Given the description of an element on the screen output the (x, y) to click on. 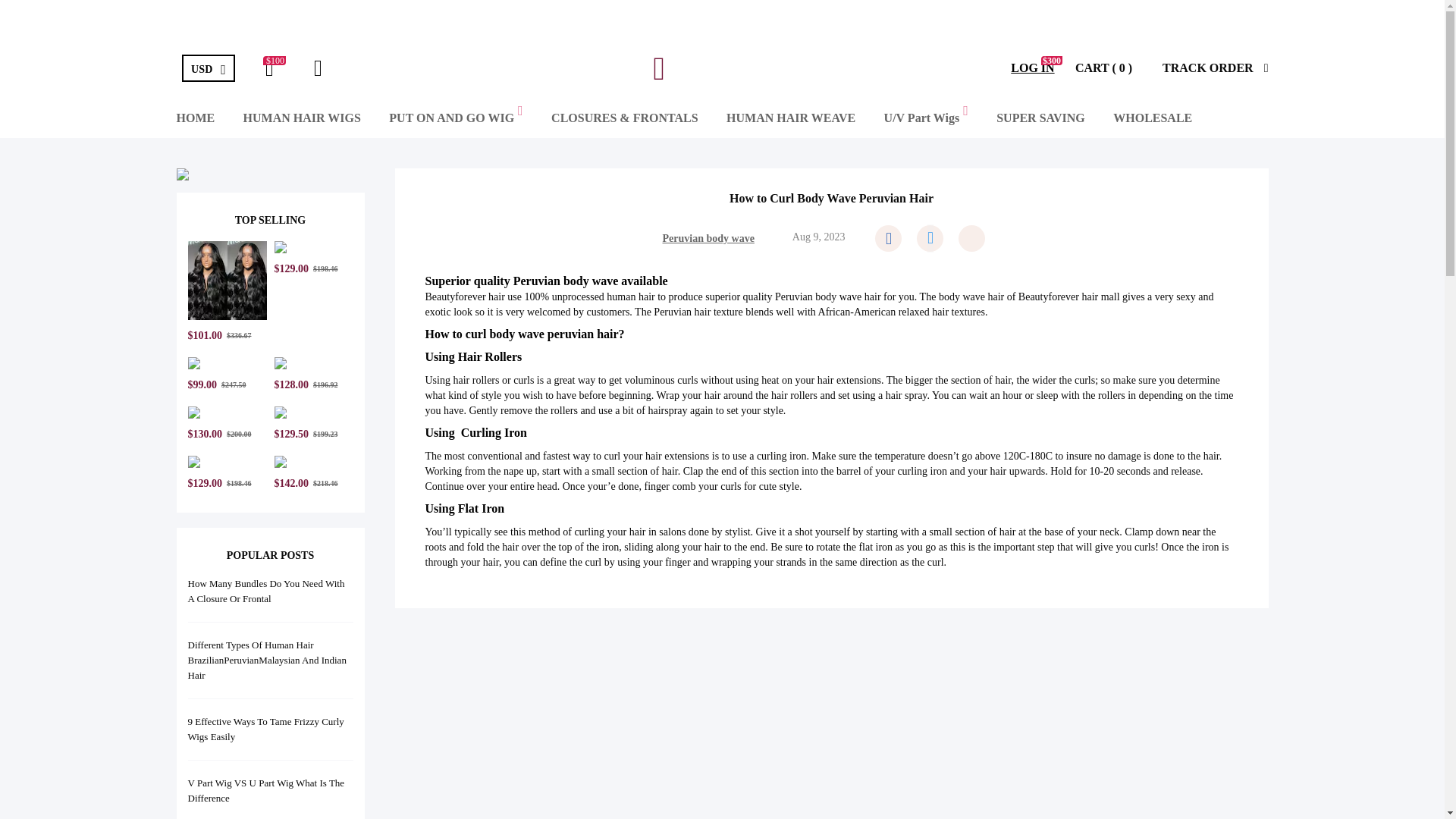
peruvian body wave hair (827, 296)
Peruvian body wave hair (827, 296)
TRACK ORDER (1214, 68)
9 Effective Ways To Tame Frizzy Curly Wigs Easily (265, 728)
V Part Wig VS U Part Wig What Is The Difference (266, 790)
How Many Bundles Do You Need With A Closure Or Frontal (266, 591)
